Given the description of an element on the screen output the (x, y) to click on. 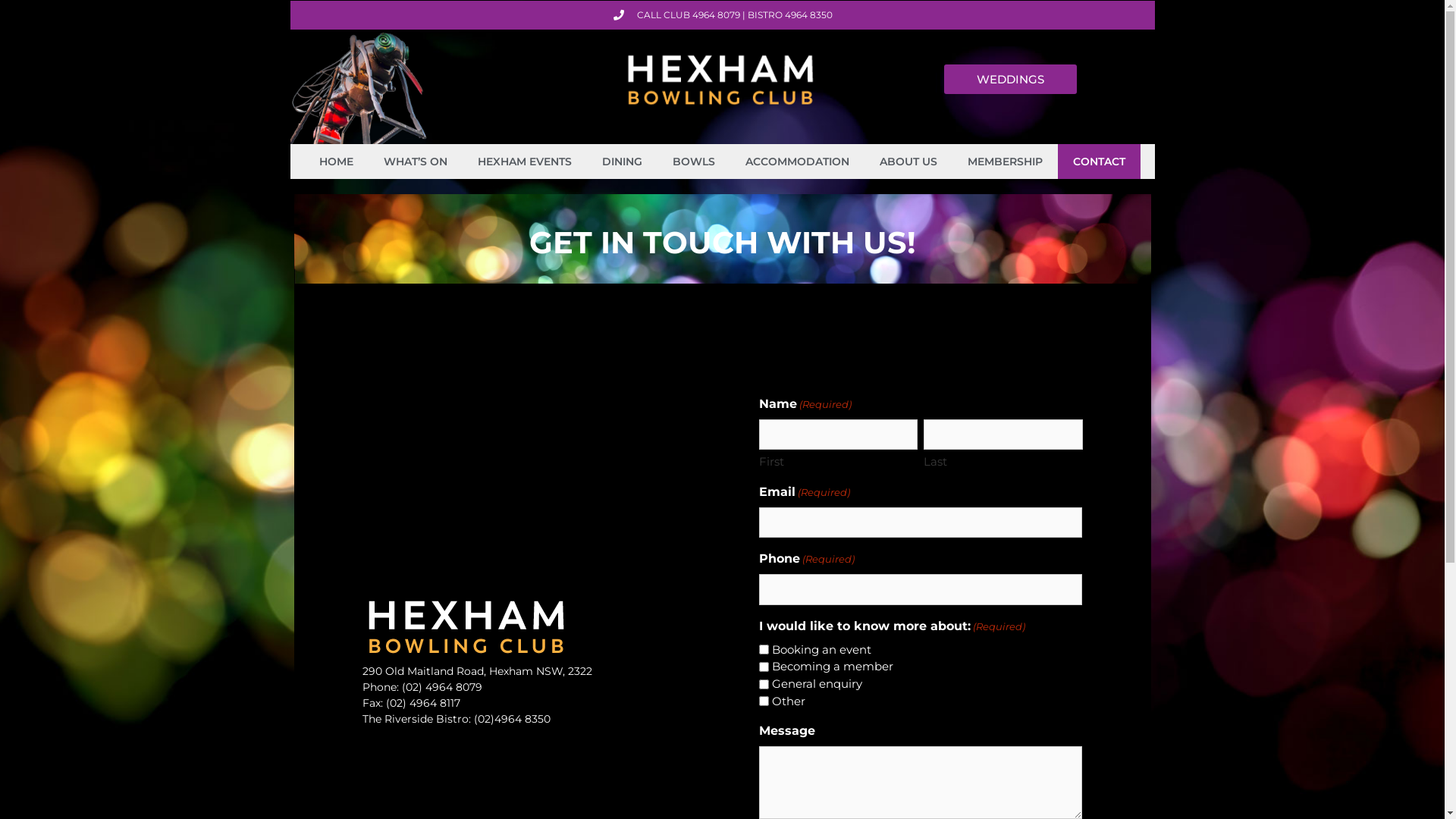
DINING Element type: text (621, 161)
HOME Element type: text (336, 161)
CONTACT Element type: text (1098, 161)
MEMBERSHIP Element type: text (1004, 161)
BOWLS Element type: text (693, 161)
CALL CLUB 4964 8079 | BISTRO 4964 8350 Element type: text (722, 14)
ABOUT US Element type: text (908, 161)
ACCOMMODATION Element type: text (797, 161)
WEDDINGS Element type: text (1010, 79)
Hexham Bowling Club 290 Old Maitland Road, Hexham NSW, 2322 Element type: hover (537, 465)
HEXHAM EVENTS Element type: text (524, 161)
